Given the description of an element on the screen output the (x, y) to click on. 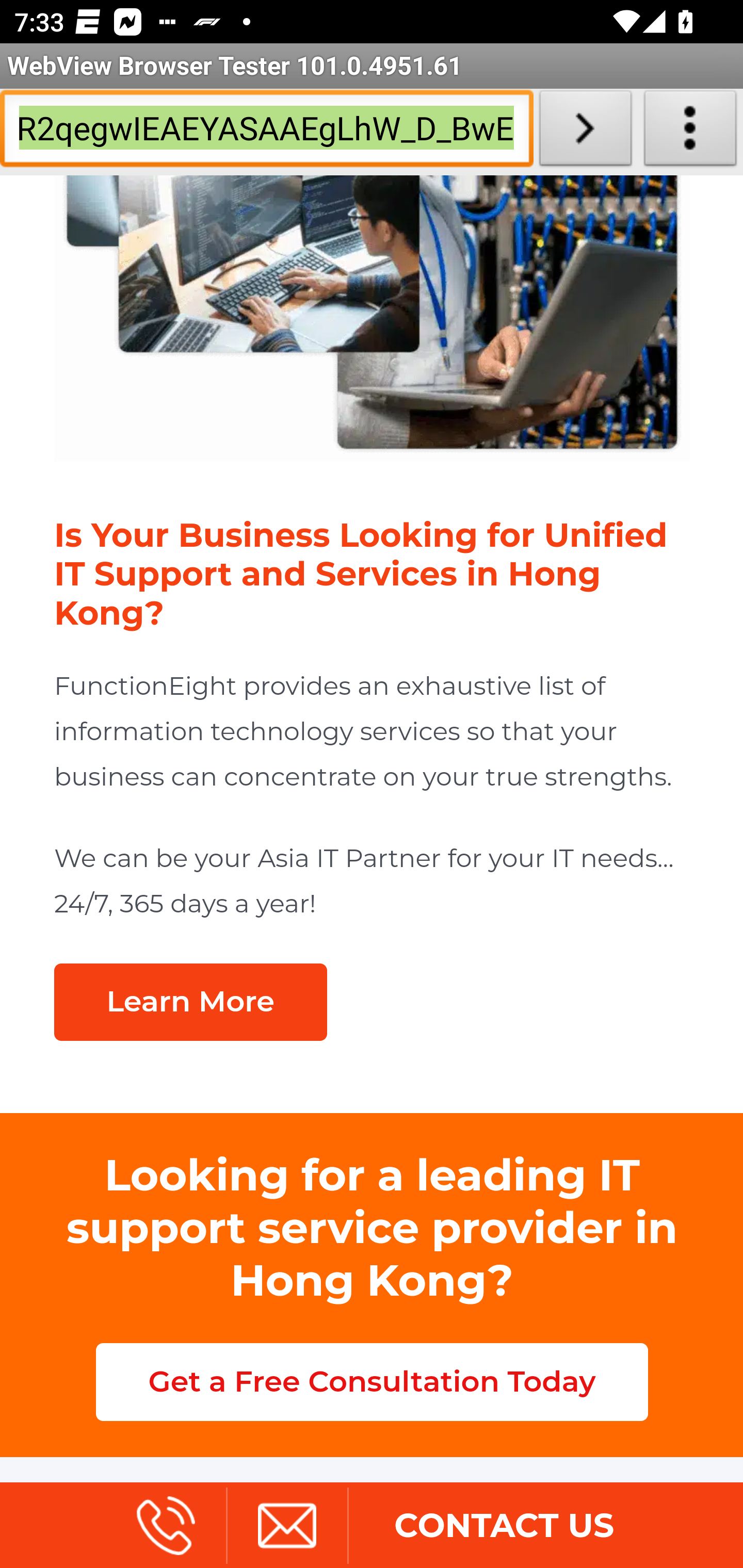
Load URL (585, 132)
About WebView (690, 132)
Learn More (190, 1003)
Get a Free Consultation Today (371, 1382)
email (286, 1527)
CONTACT US (504, 1527)
